Given the description of an element on the screen output the (x, y) to click on. 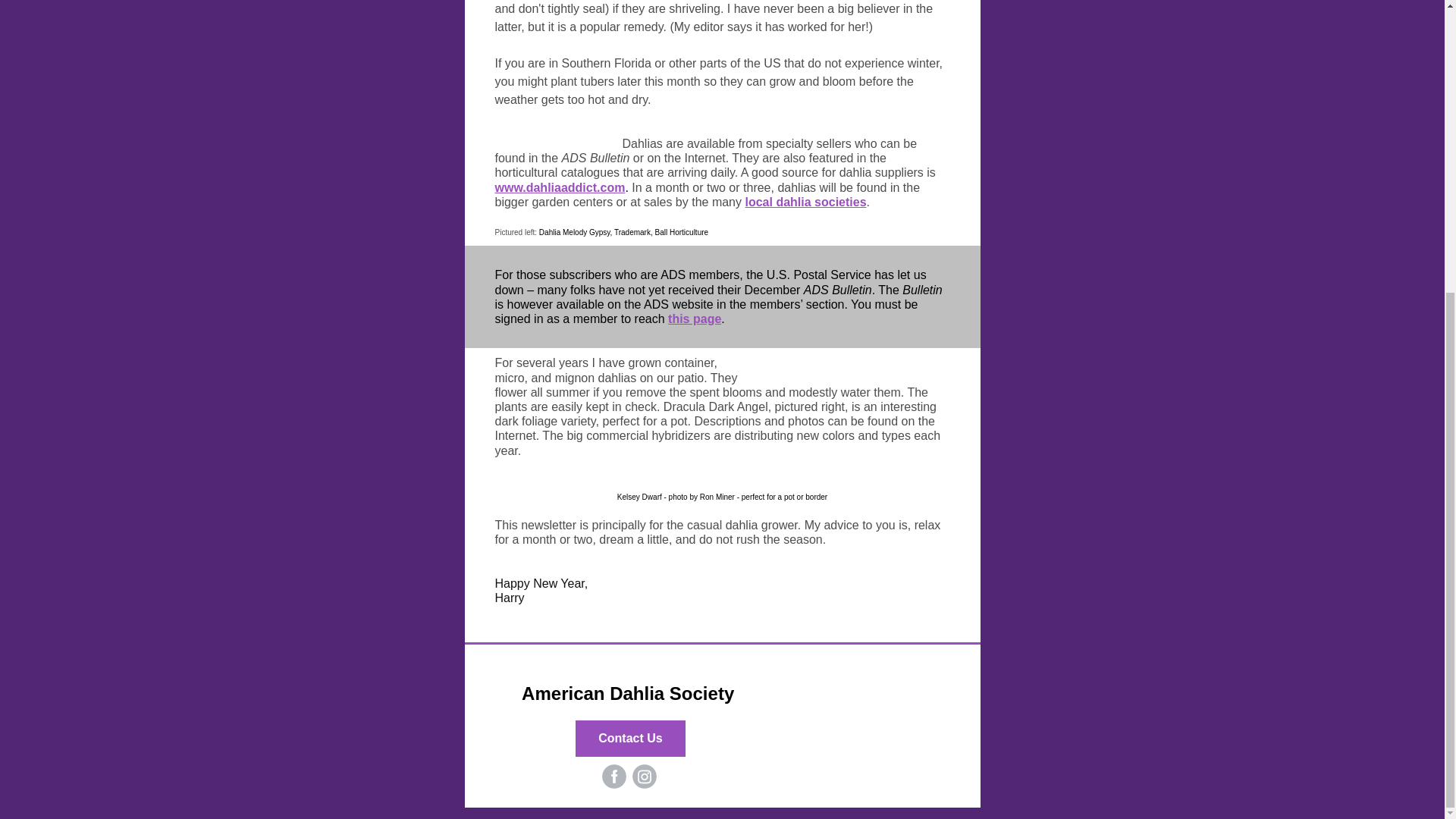
www.dahliaaddict.com (559, 187)
this page (694, 318)
American Dahlia Society  (630, 693)
local dahlia societies (805, 201)
Contact Us (630, 738)
